Given the description of an element on the screen output the (x, y) to click on. 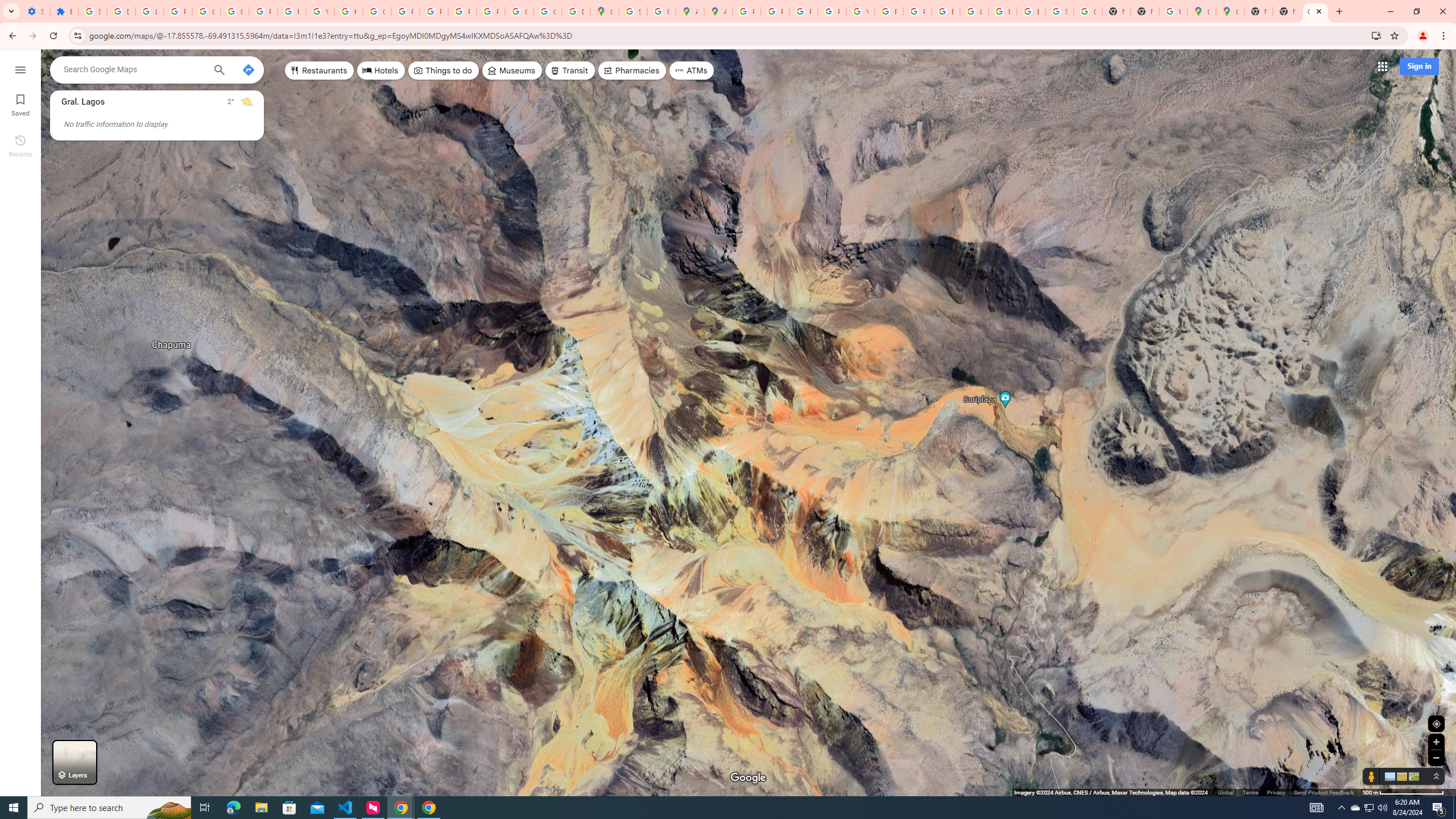
Google Account Help (234, 11)
Privacy (1275, 792)
Museums (511, 70)
Privacy Help Center - Policies Help (774, 11)
Things to do (443, 70)
Sign in - Google Accounts (632, 11)
